Given the description of an element on the screen output the (x, y) to click on. 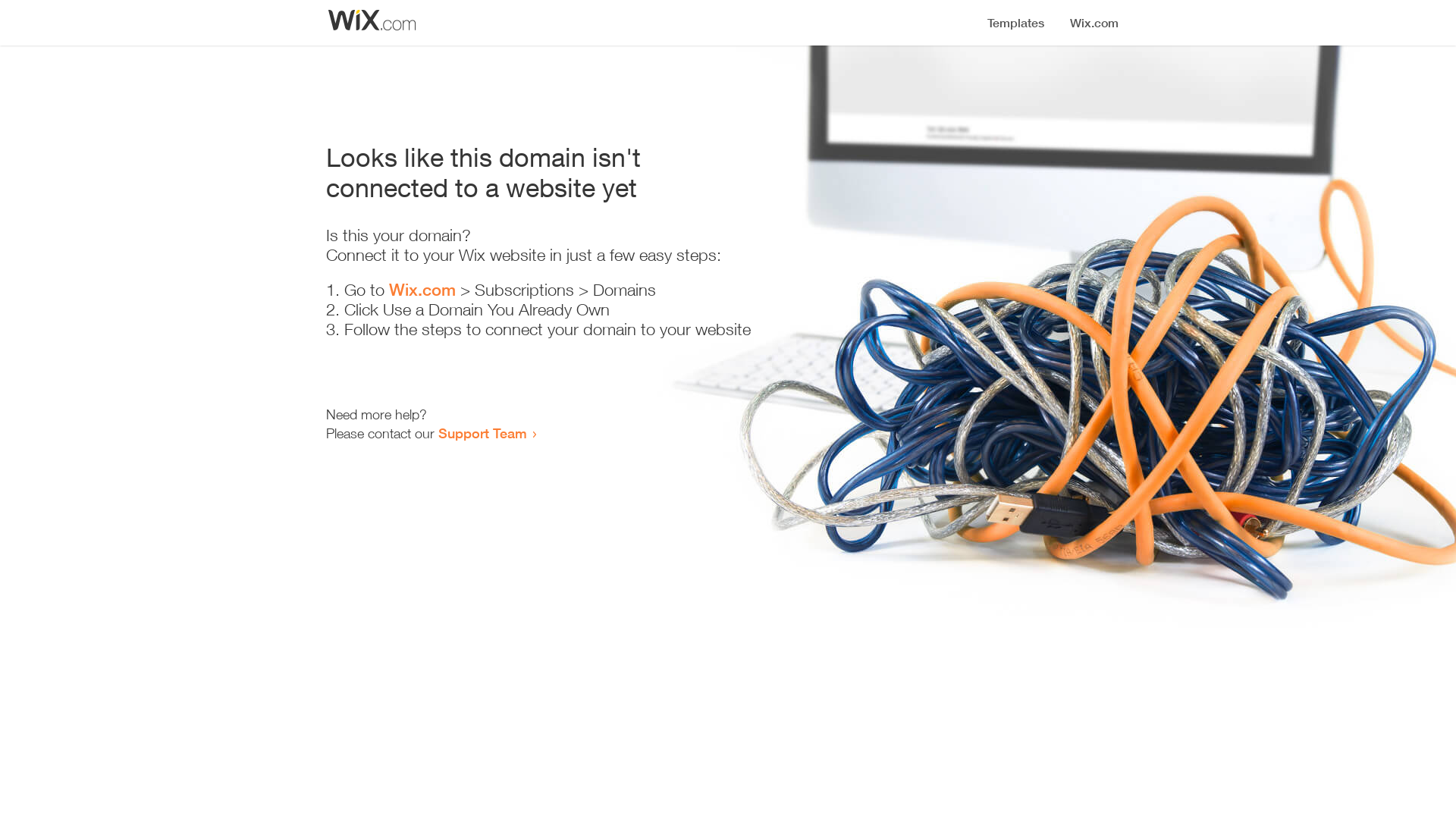
Wix.com Element type: text (422, 289)
Support Team Element type: text (482, 432)
